Given the description of an element on the screen output the (x, y) to click on. 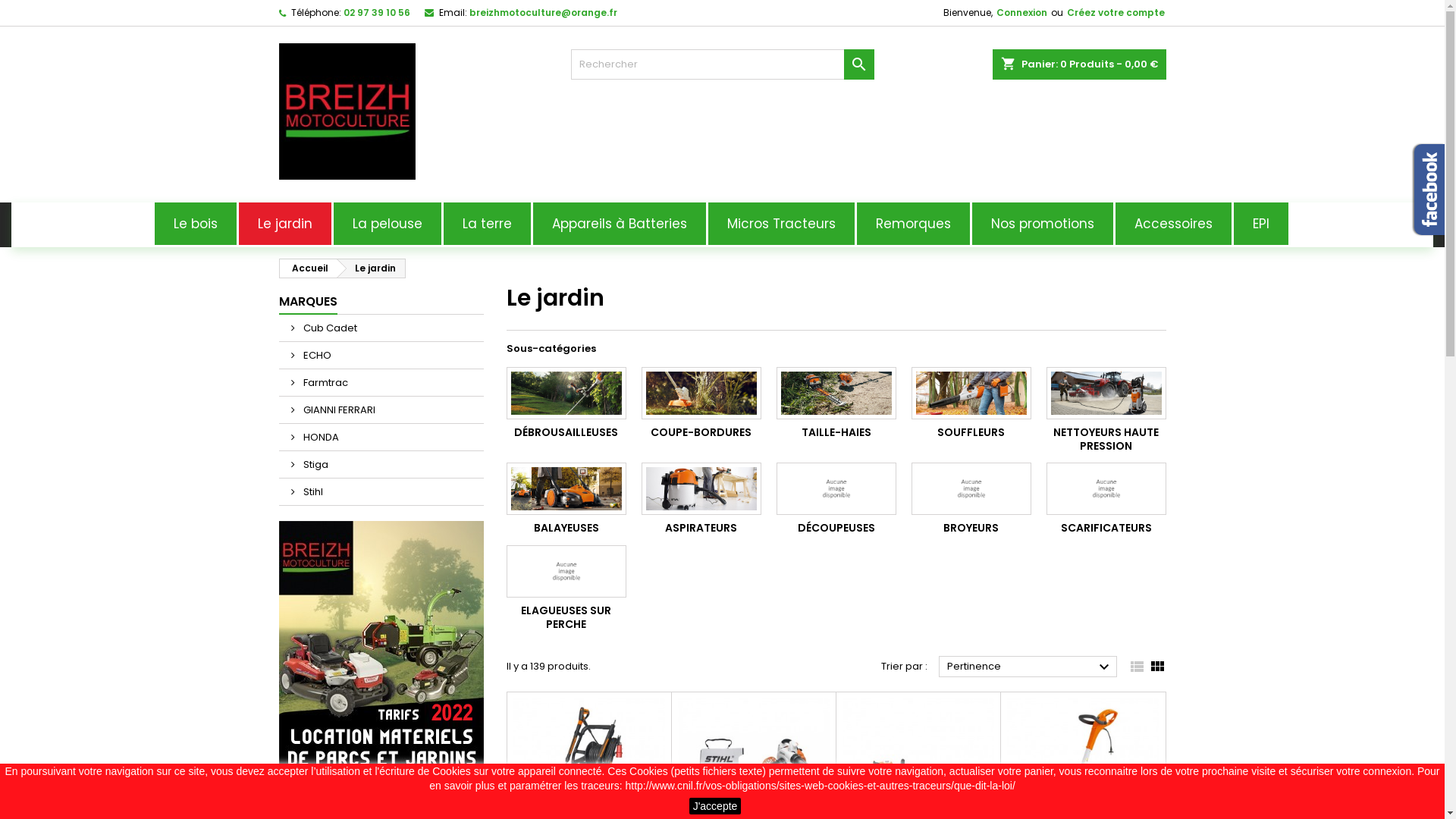
La terre Element type: text (487, 223)
SCARIFICATEURS Element type: text (1105, 527)
Taille-haies Element type: hover (836, 393)
Stihl Element type: text (381, 491)
GIANNI FERRARI Element type: text (381, 409)
Balayeuses Element type: hover (566, 488)
Nos promotions Element type: text (1043, 223)
Elagueuses sur perche Element type: hover (566, 571)
Connexion Element type: text (1021, 12)
Le jardin Element type: text (285, 223)
Souffleurs Element type: hover (971, 393)
Nettoyeurs haute pression Element type: hover (1106, 393)
breizhmotoculture@orange.fr Element type: text (542, 12)
ELAGUEUSES SUR PERCHE Element type: text (565, 616)
Le bois Element type: text (196, 223)
NETTOYEURS HAUTE PRESSION Element type: text (1105, 438)
EPI Element type: text (1261, 223)
BROYEURS Element type: text (970, 527)
ECHO Element type: text (381, 355)
Accessoires Element type: text (1173, 223)
La pelouse Element type: text (388, 223)
COUPE-BORDURES Element type: text (700, 431)
Remorques Element type: text (914, 223)
J'accepte Element type: text (715, 805)
Le jardin Element type: text (371, 268)
Aspirateurs Element type: hover (701, 488)
ASPIRATEURS Element type: text (701, 527)
MARQUES Element type: text (308, 302)
Scarificateurs Element type: hover (1106, 488)
Broyeurs Element type: hover (971, 488)
Farmtrac Element type: text (381, 382)
Coupe-bordures Element type: hover (701, 393)
HONDA Element type: text (381, 436)
Micros Tracteurs Element type: text (782, 223)
BALAYEUSES Element type: text (566, 527)
Accueil Element type: text (307, 268)
SOUFFLEURS Element type: text (970, 431)
Stiga Element type: text (381, 464)
TAILLE-HAIES Element type: text (835, 431)
Cub Cadet Element type: text (381, 327)
